Given the description of an element on the screen output the (x, y) to click on. 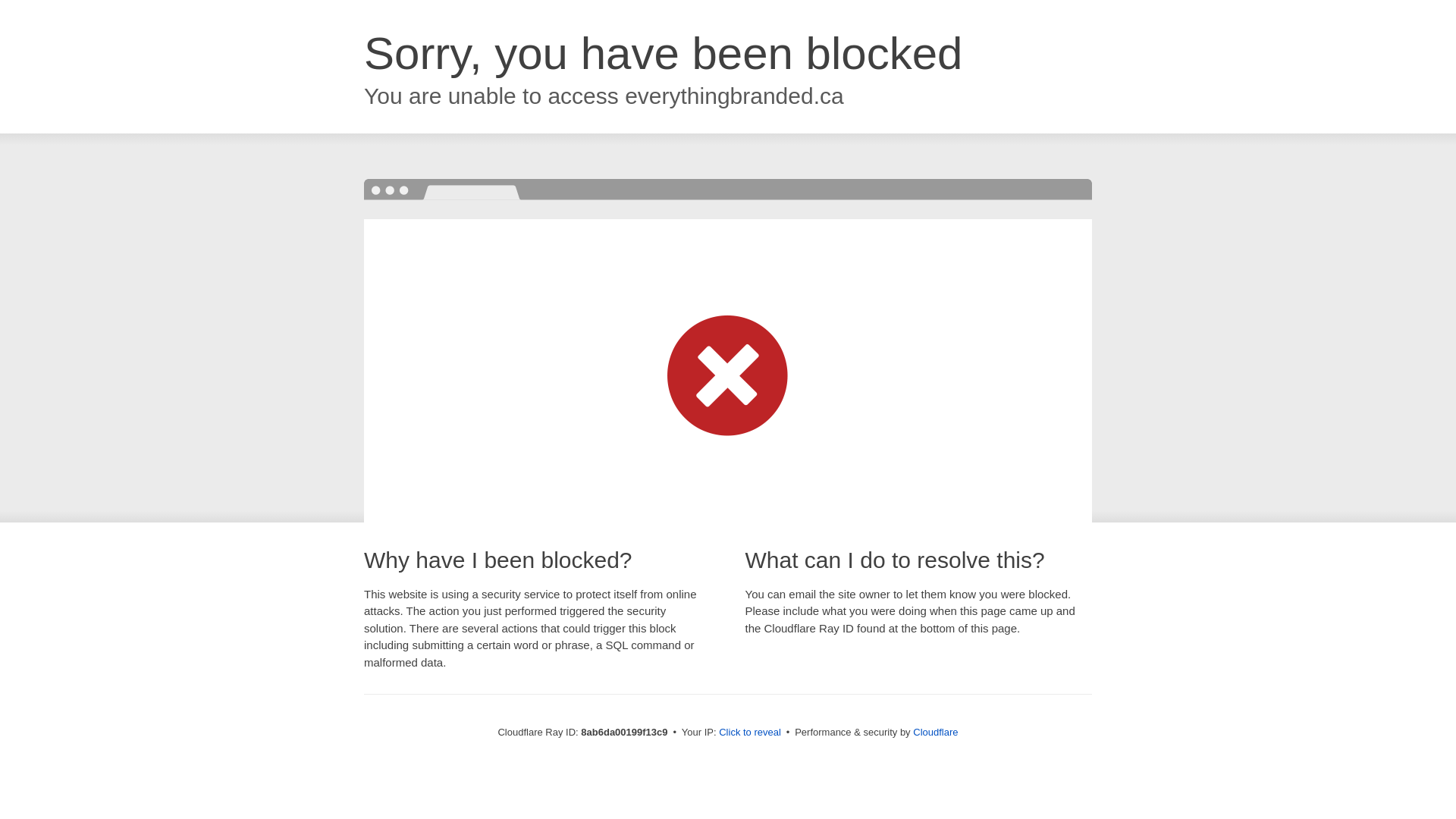
Click to reveal (749, 732)
Cloudflare (935, 731)
